Given the description of an element on the screen output the (x, y) to click on. 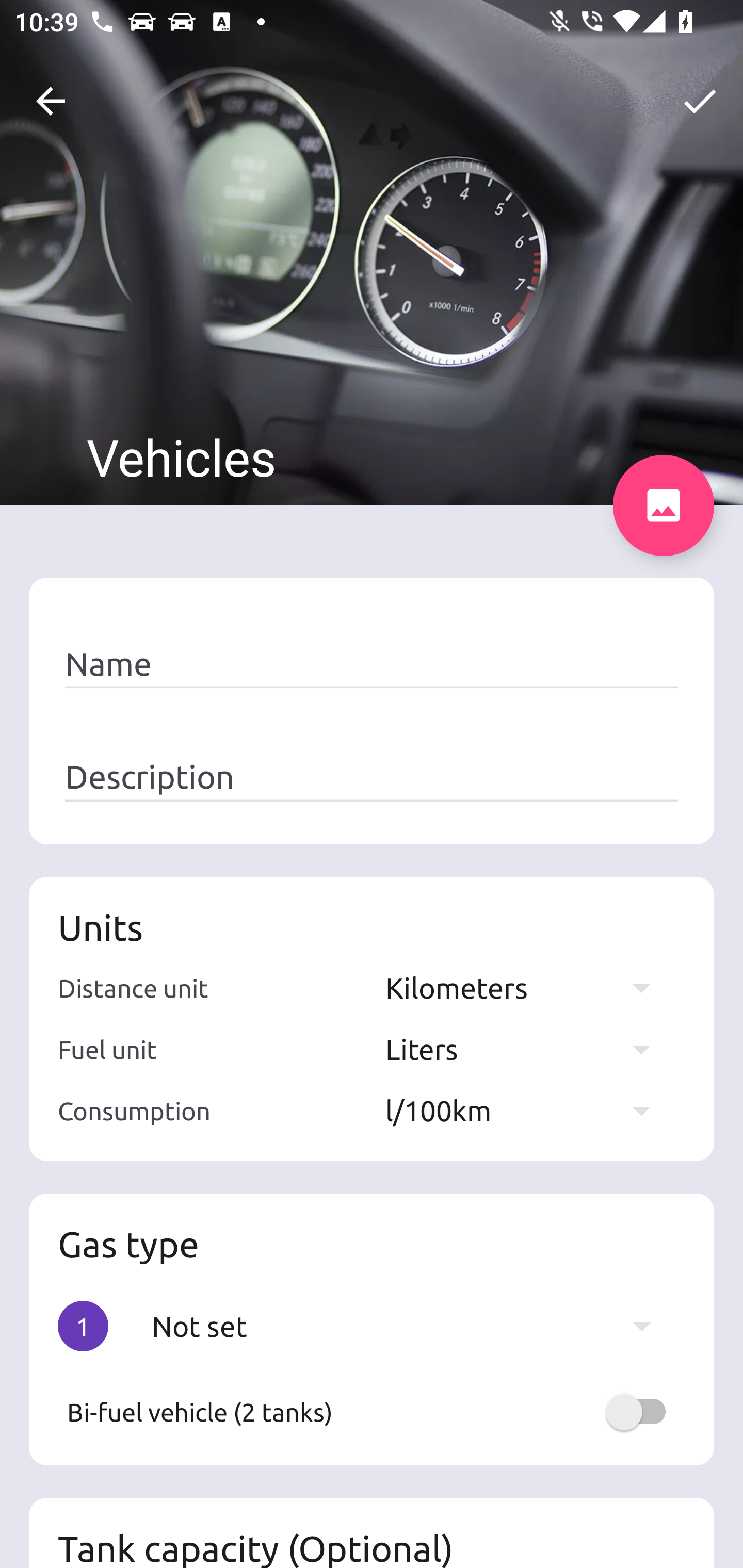
Navigate up (50, 101)
OK (699, 101)
Name (371, 664)
Description (371, 777)
Kilometers (527, 987)
Liters (527, 1048)
l/100km (527, 1110)
Not set (411, 1325)
Bi-fuel vehicle (2 tanks) (371, 1411)
